Given the description of an element on the screen output the (x, y) to click on. 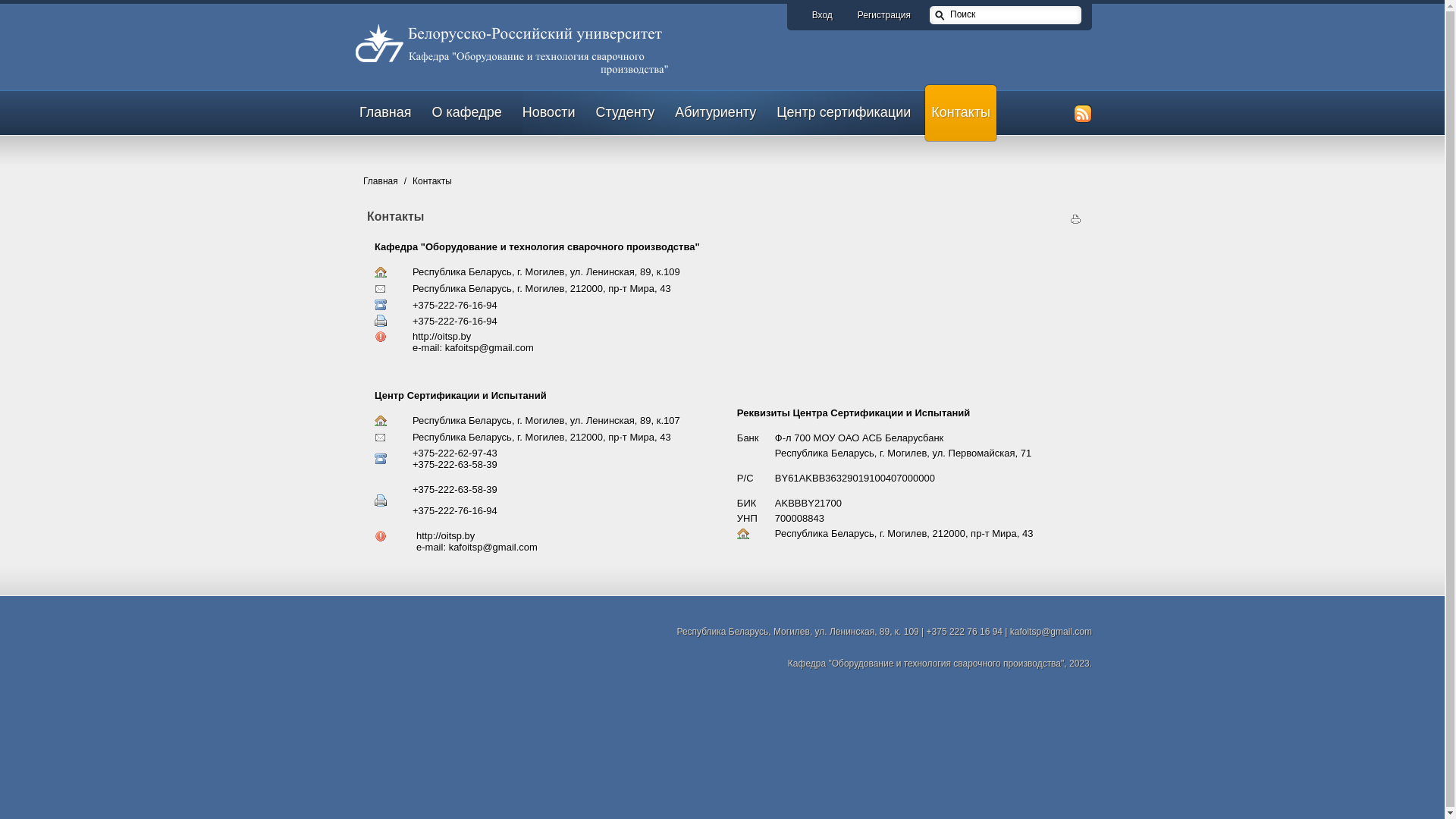
kafoitsp@gmail.com Element type: text (489, 347)
kafoitsp@gmail.com Element type: text (492, 546)
